Given the description of an element on the screen output the (x, y) to click on. 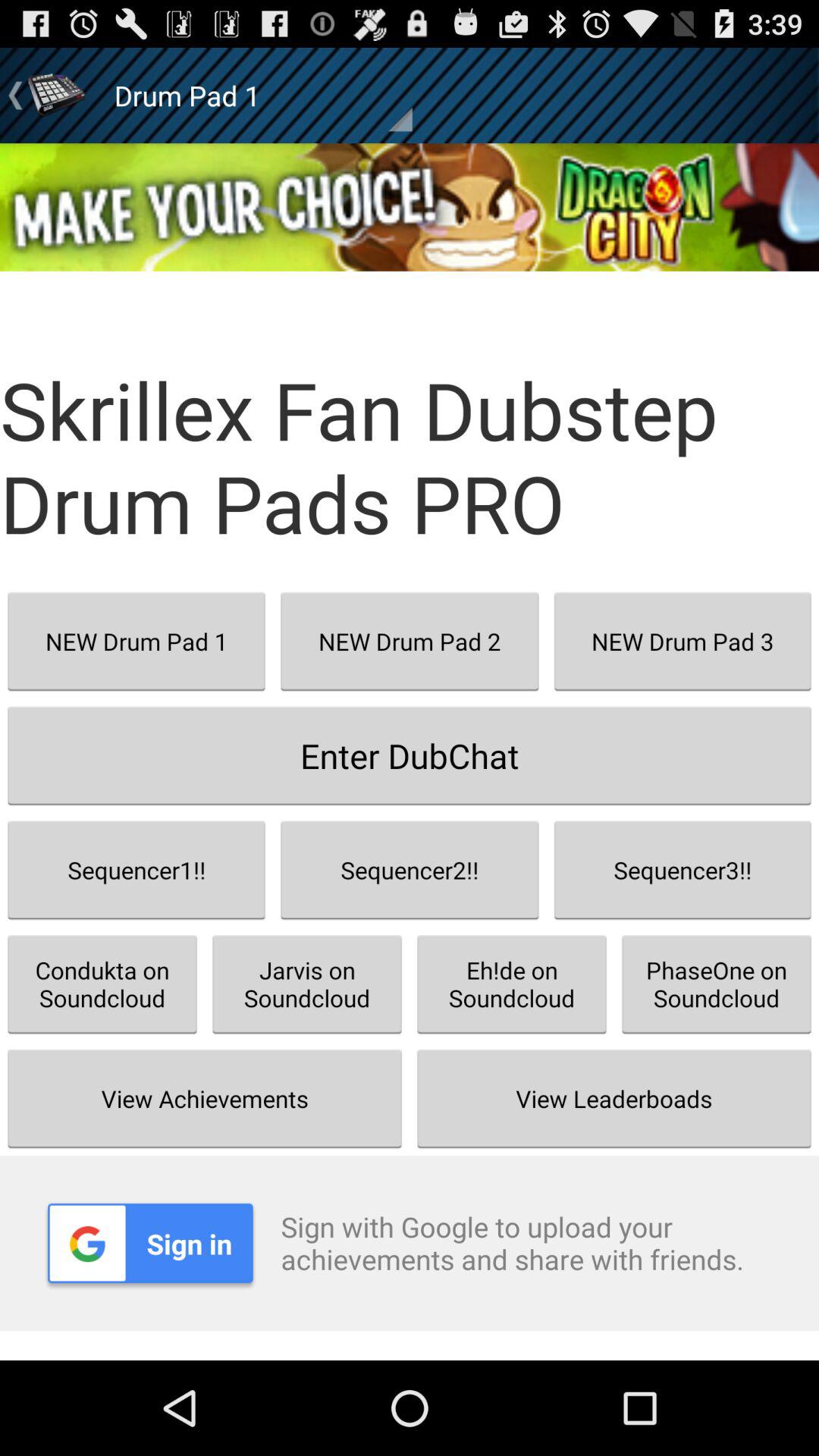
tap to view (409, 207)
